Given the description of an element on the screen output the (x, y) to click on. 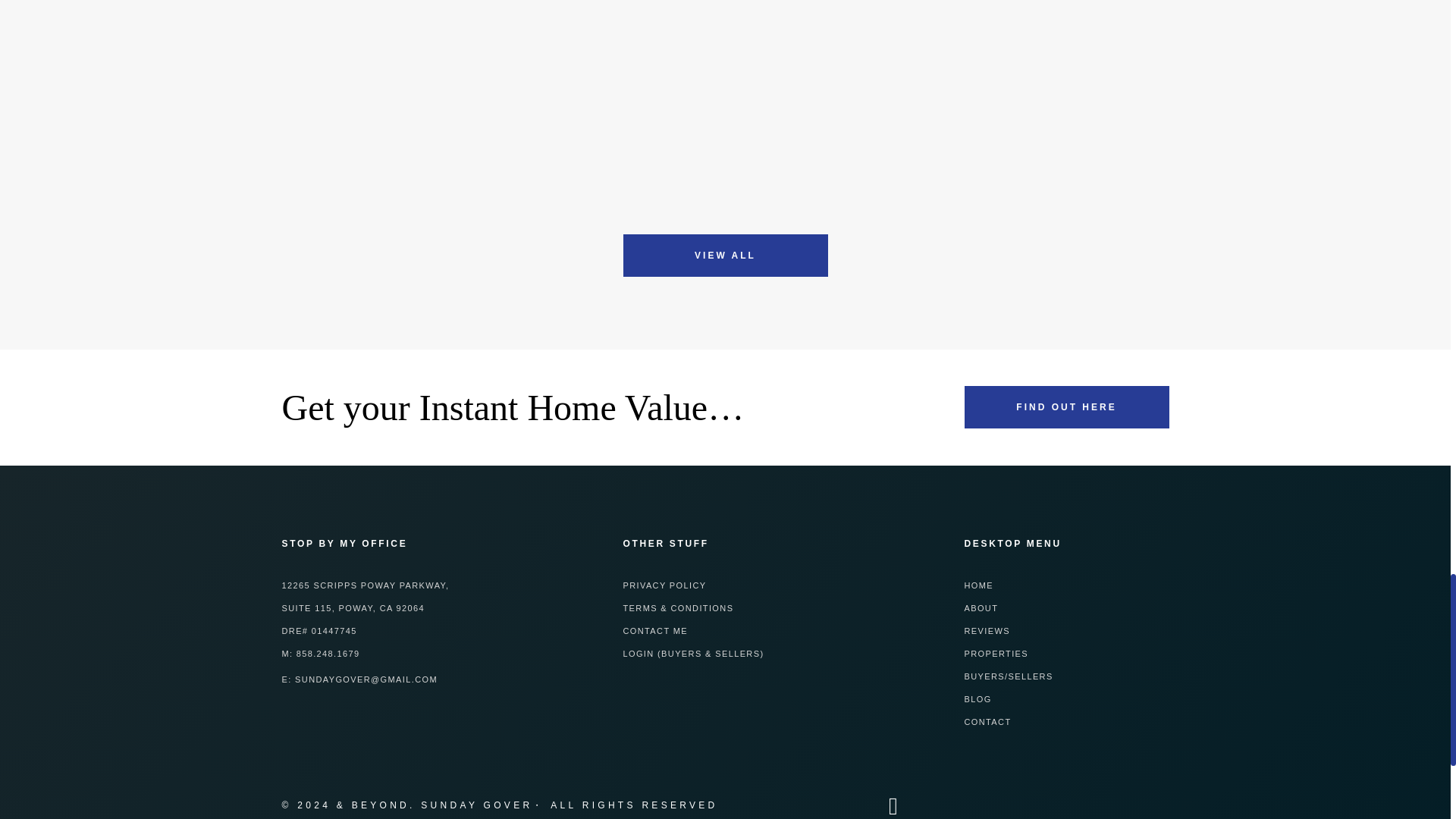
858.248.1679 (328, 653)
PRIVACY POLICY (664, 584)
FIND OUT HERE (1066, 406)
VIEW ALL (725, 255)
